Given the description of an element on the screen output the (x, y) to click on. 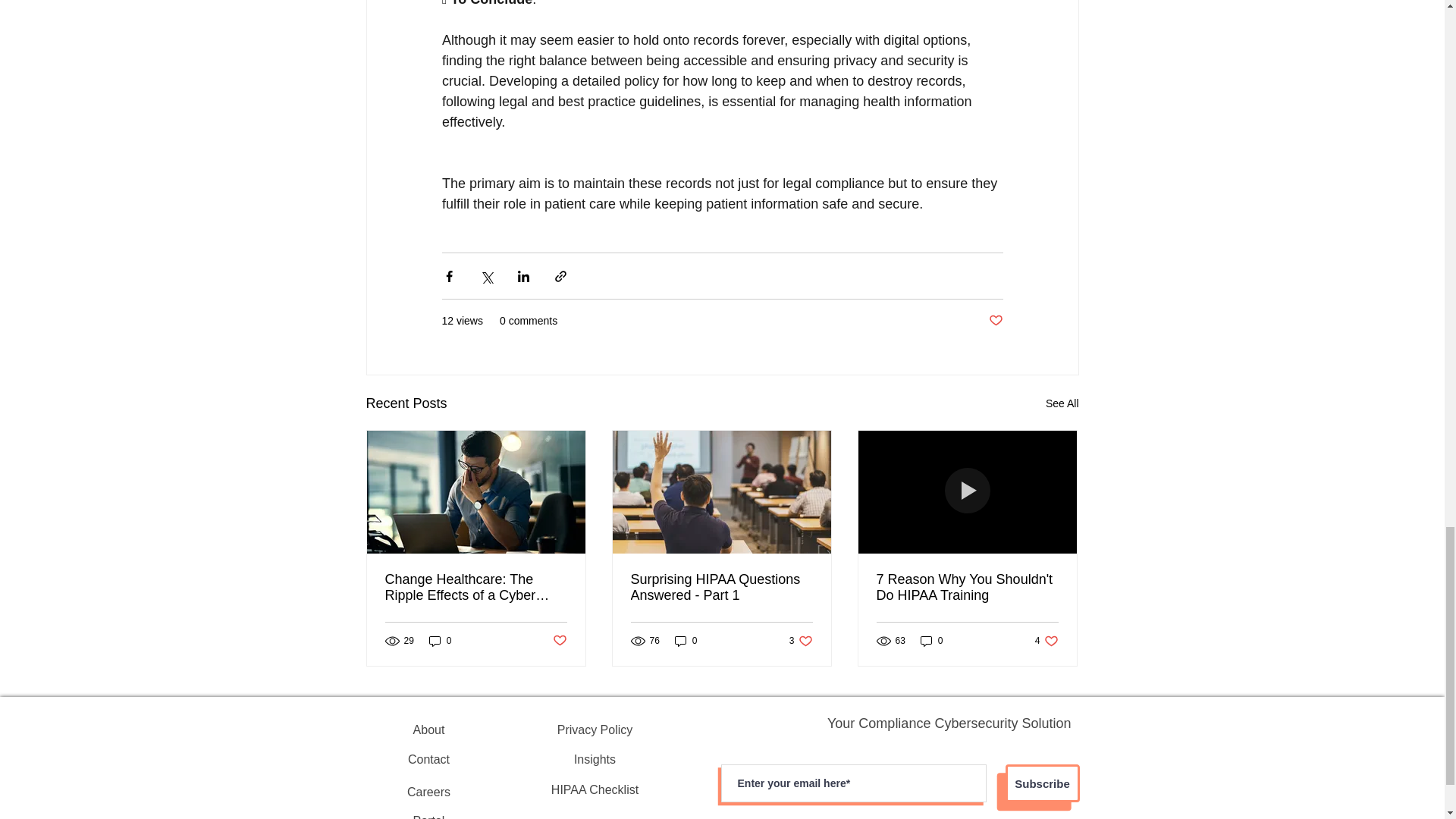
Post not marked as liked (558, 641)
About (429, 729)
Careers (800, 640)
0 (429, 792)
Surprising HIPAA Questions Answered - Part 1 (685, 640)
Contact (721, 587)
7 Reason Why You Shouldn't Do HIPAA Training (429, 759)
0 (967, 587)
See All (440, 640)
Change Healthcare: The Ripple Effects of a Cyber Attack (1061, 403)
Post not marked as liked (476, 587)
Portal (1046, 640)
0 (995, 320)
